Given the description of an element on the screen output the (x, y) to click on. 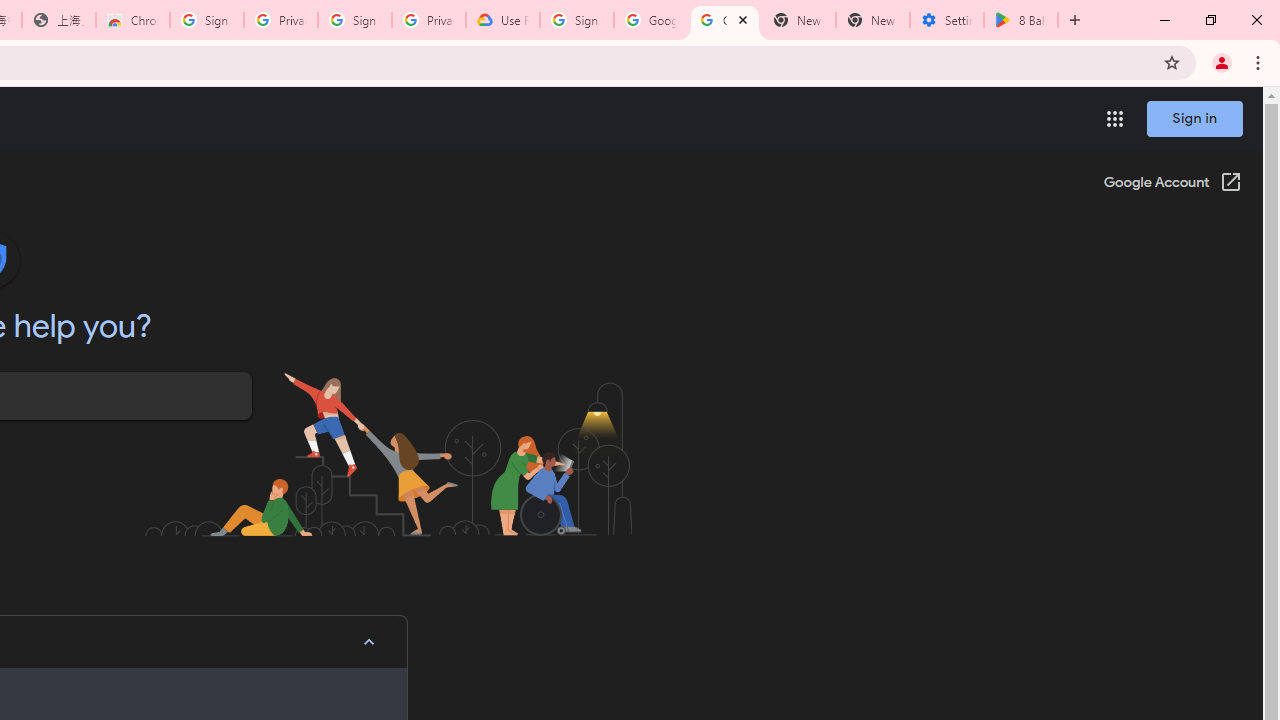
Sign in - Google Accounts (354, 20)
8 Ball Pool - Apps on Google Play (1021, 20)
Google Account (Open in a new window) (1172, 183)
Sign in - Google Accounts (577, 20)
Settings - System (947, 20)
Google Account Help (651, 20)
Chrome Web Store - Color themes by Chrome (133, 20)
